Given the description of an element on the screen output the (x, y) to click on. 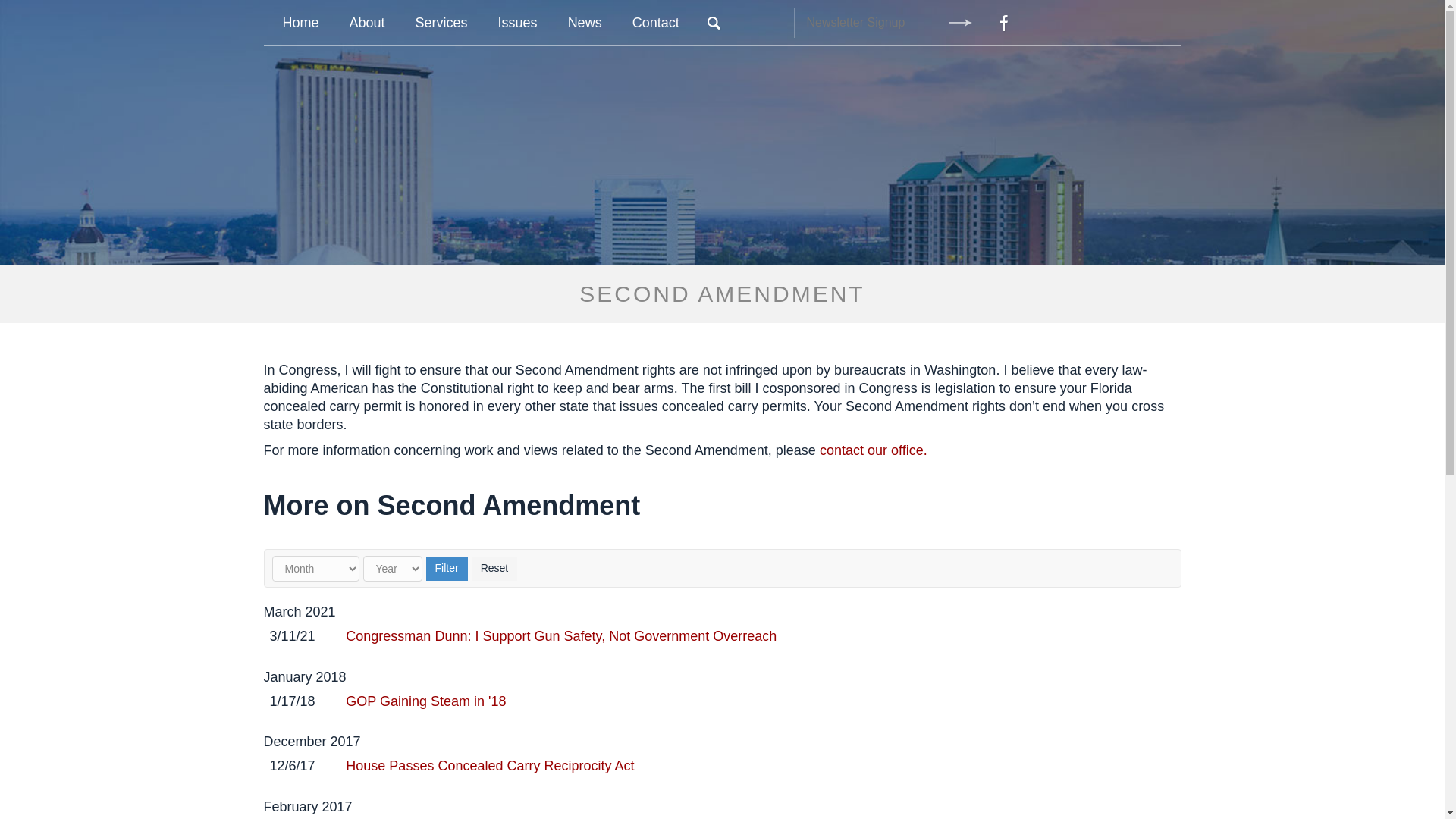
Reset (494, 568)
Filter (446, 568)
Services (441, 22)
News (585, 22)
YouTube (1119, 22)
Facebook (1003, 22)
Issues (518, 22)
About (367, 22)
Contact (655, 22)
Instagram (1042, 22)
